Given the description of an element on the screen output the (x, y) to click on. 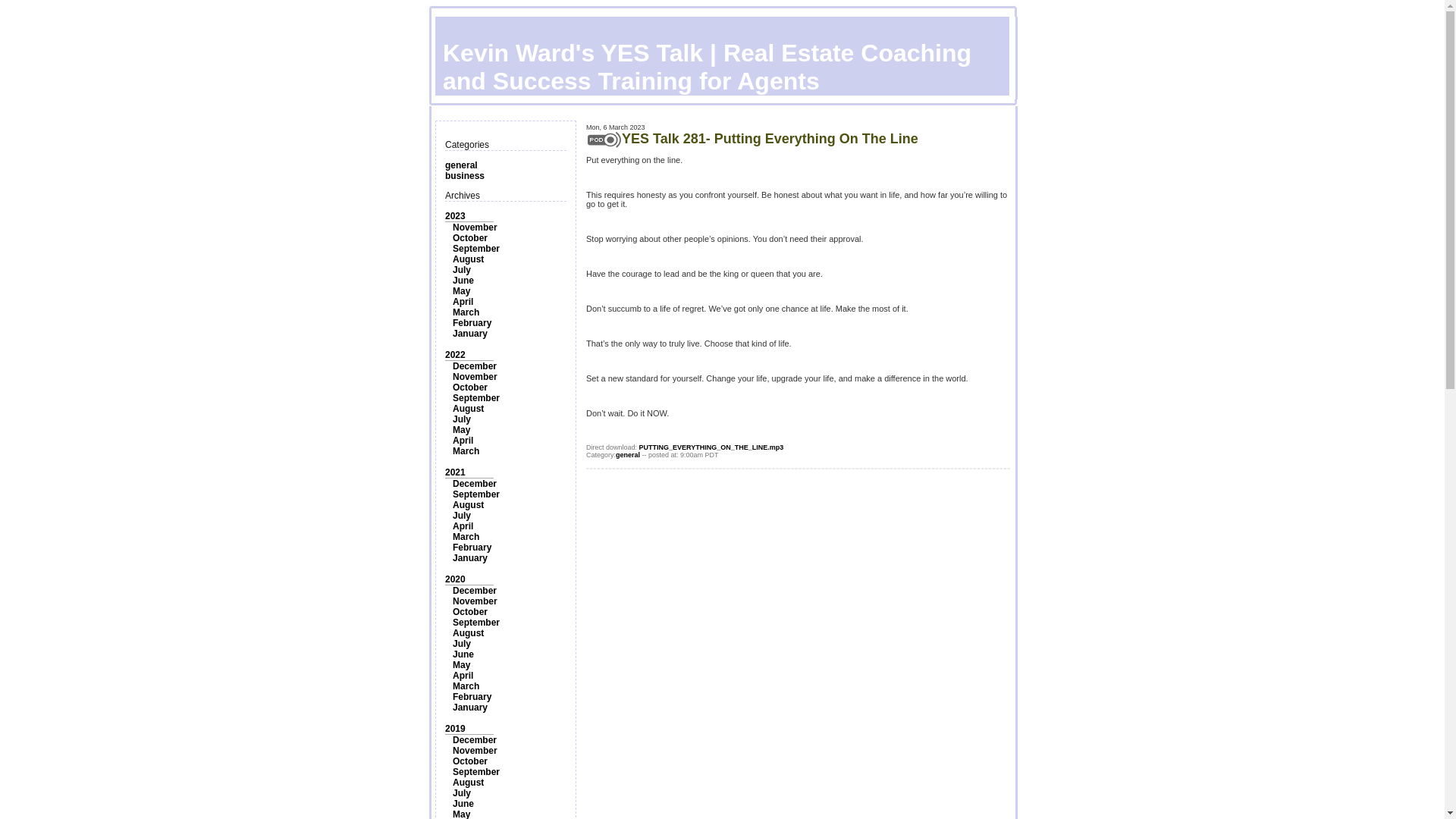
October (469, 387)
April (462, 439)
2022 (455, 354)
February (472, 547)
July (461, 643)
December (474, 366)
September (475, 622)
August (467, 504)
March (465, 450)
March (465, 536)
December (474, 590)
October (469, 237)
general (461, 164)
May (461, 290)
July (461, 419)
